Given the description of an element on the screen output the (x, y) to click on. 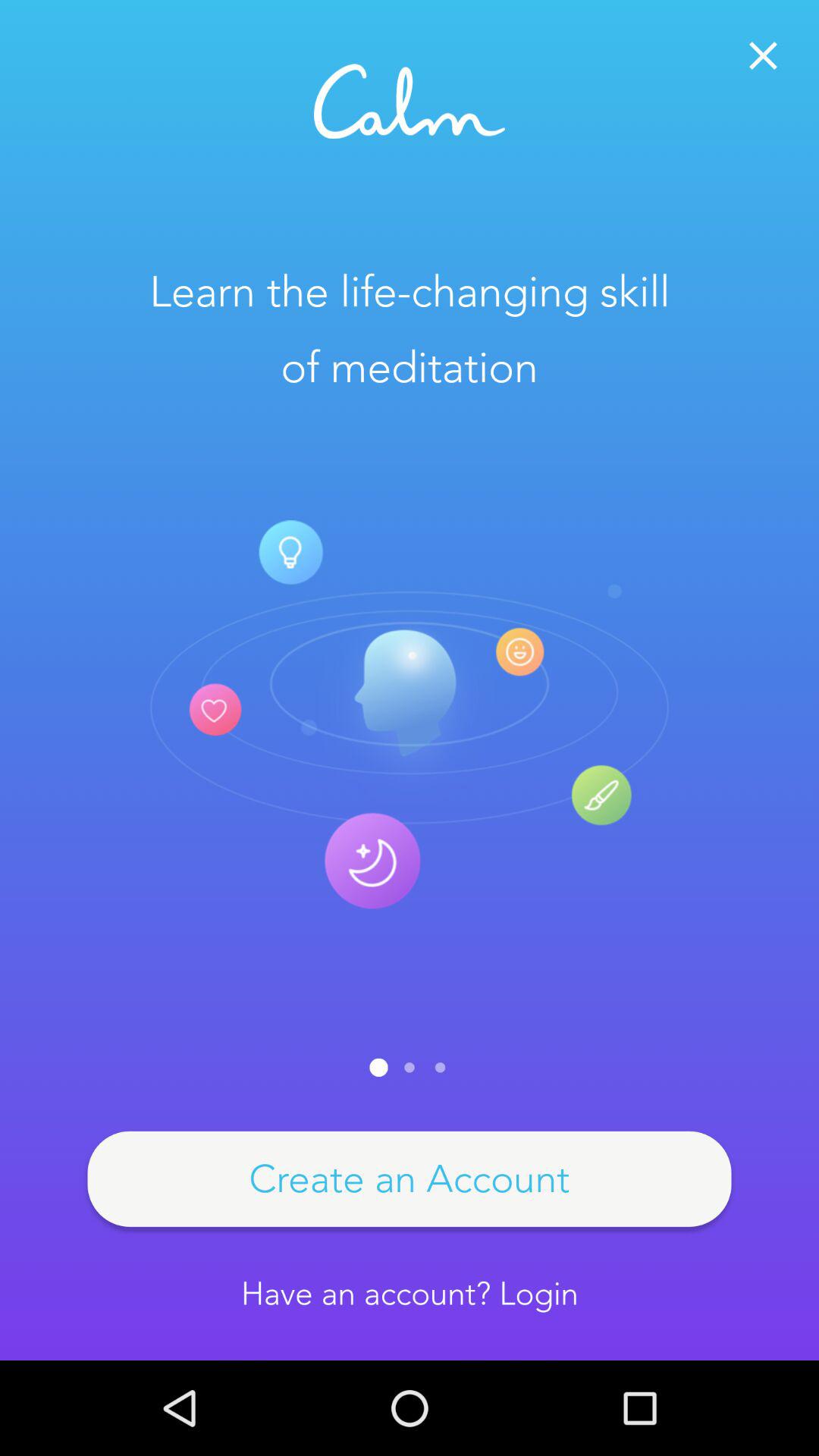
close (763, 55)
